Given the description of an element on the screen output the (x, y) to click on. 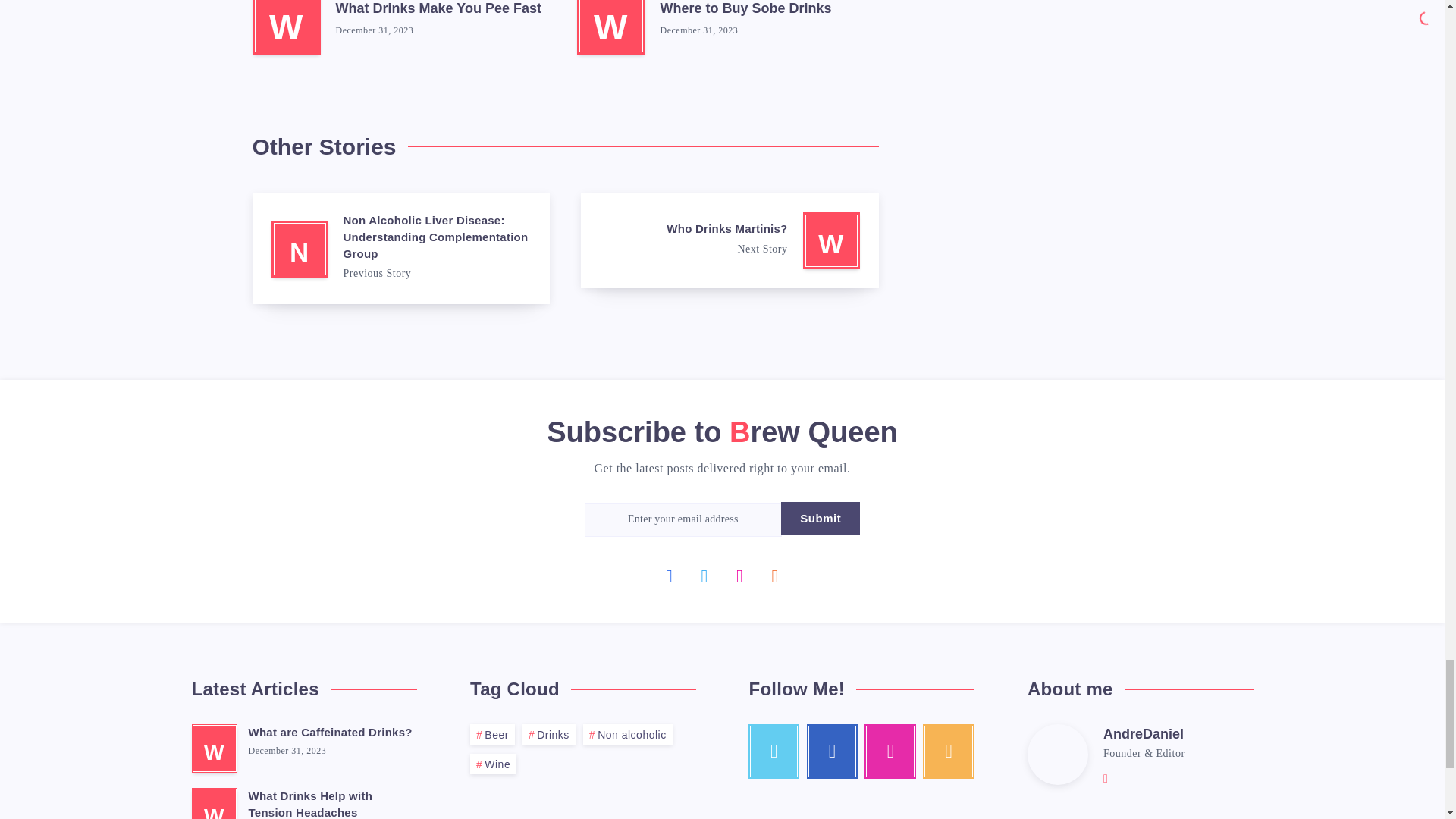
W (285, 27)
Where to Buy Sobe Drinks (745, 9)
W (610, 27)
What Drinks Make You Pee Fast (437, 9)
